Given the description of an element on the screen output the (x, y) to click on. 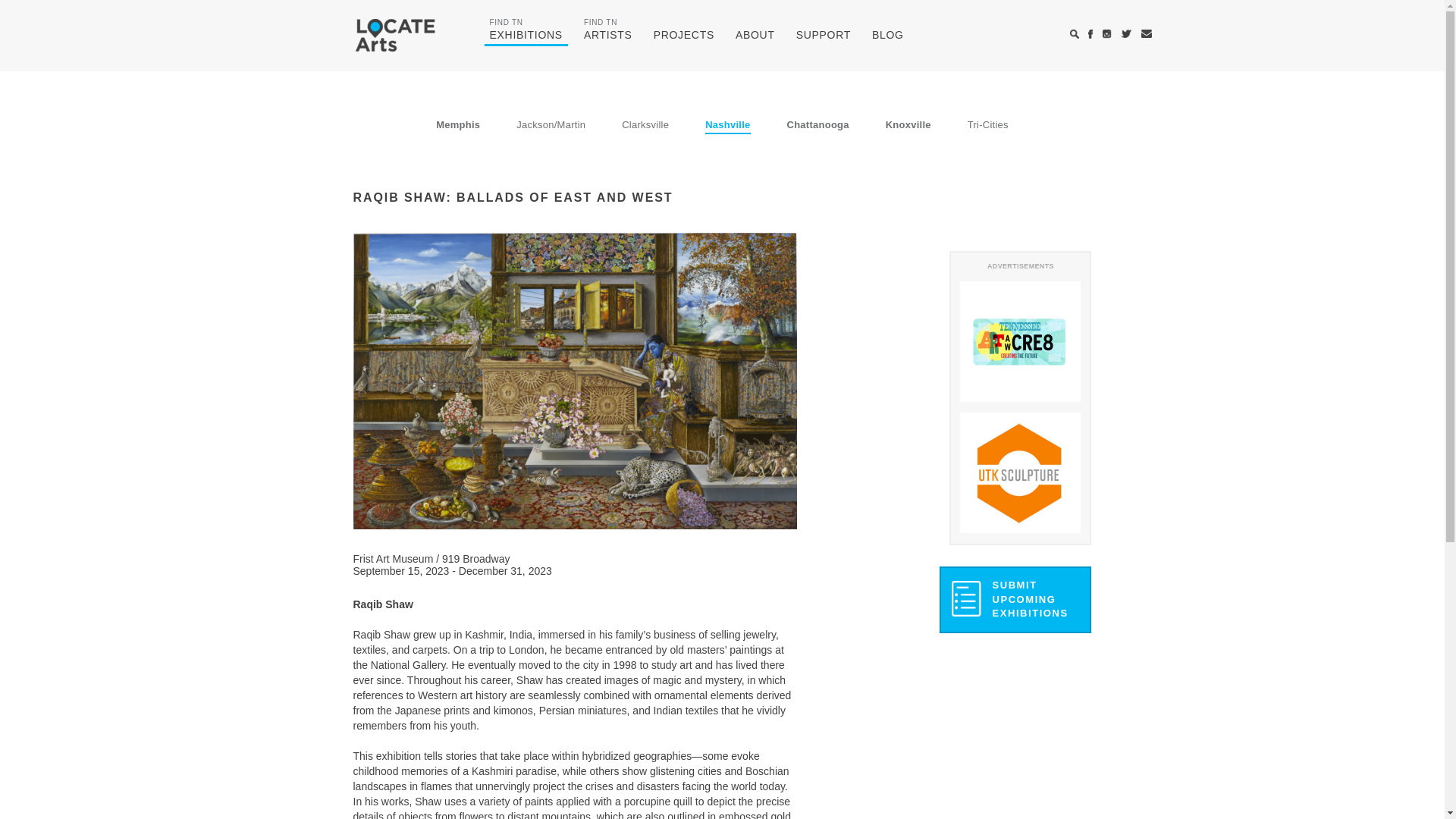
919 Broadway (476, 558)
PROJECTS (683, 36)
Nashville (726, 125)
Chattanooga (817, 125)
Clarksville (644, 125)
Tri-Cities (525, 36)
SUBMIT UPCOMING EXHIBITIONS (988, 125)
Knoxville (1014, 599)
Memphis (908, 125)
ABOUT (457, 125)
BLOG (755, 36)
Frist Art Museum (887, 36)
SUPPORT (394, 558)
